Given the description of an element on the screen output the (x, y) to click on. 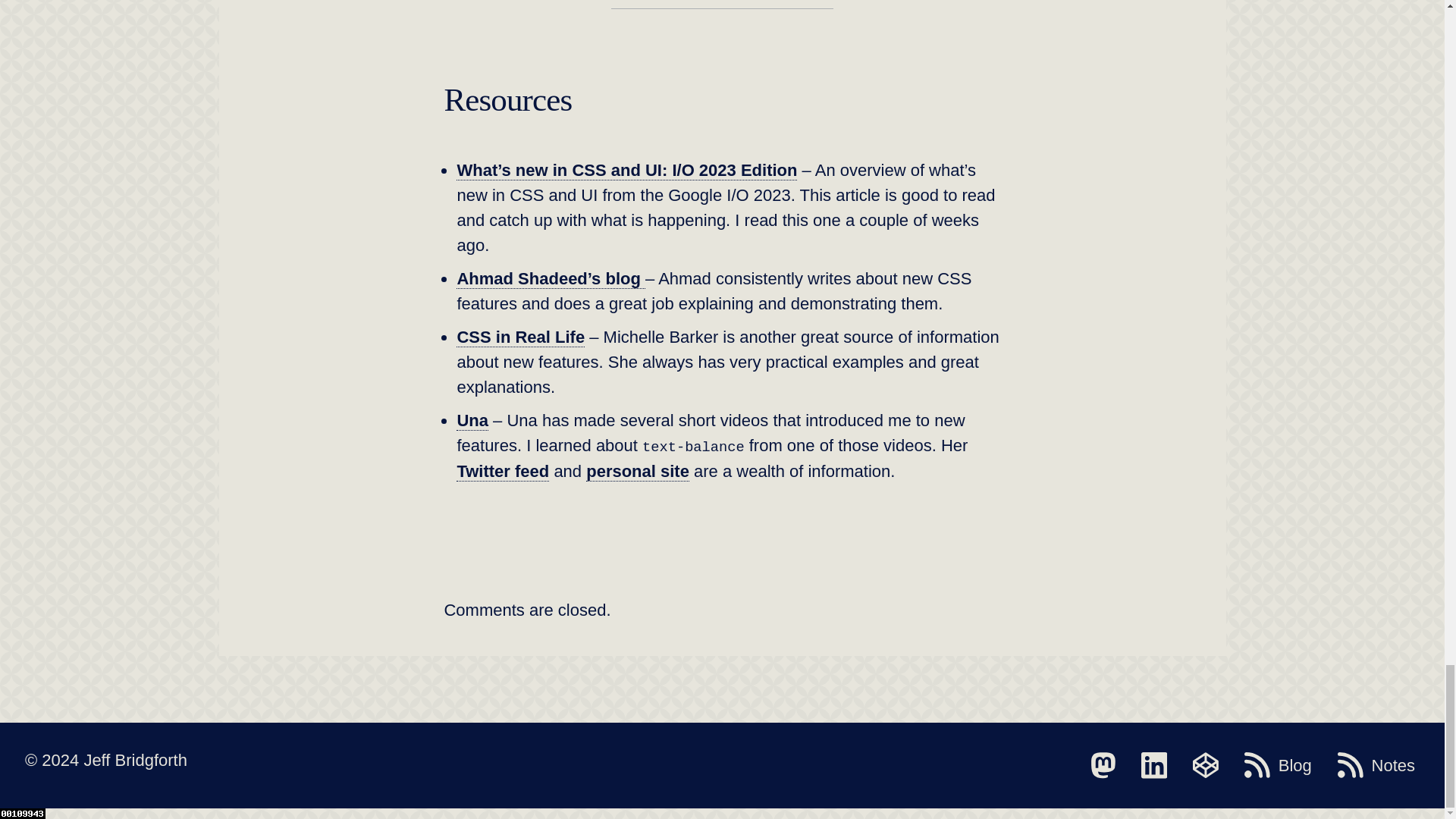
LinkedIn (1154, 764)
Una (472, 420)
personal site (637, 471)
Codepen (1205, 764)
Twitter feed (502, 471)
CSS in Real Life (521, 337)
Mastodon (1102, 764)
Blog (1278, 764)
Notes (1376, 764)
